Given the description of an element on the screen output the (x, y) to click on. 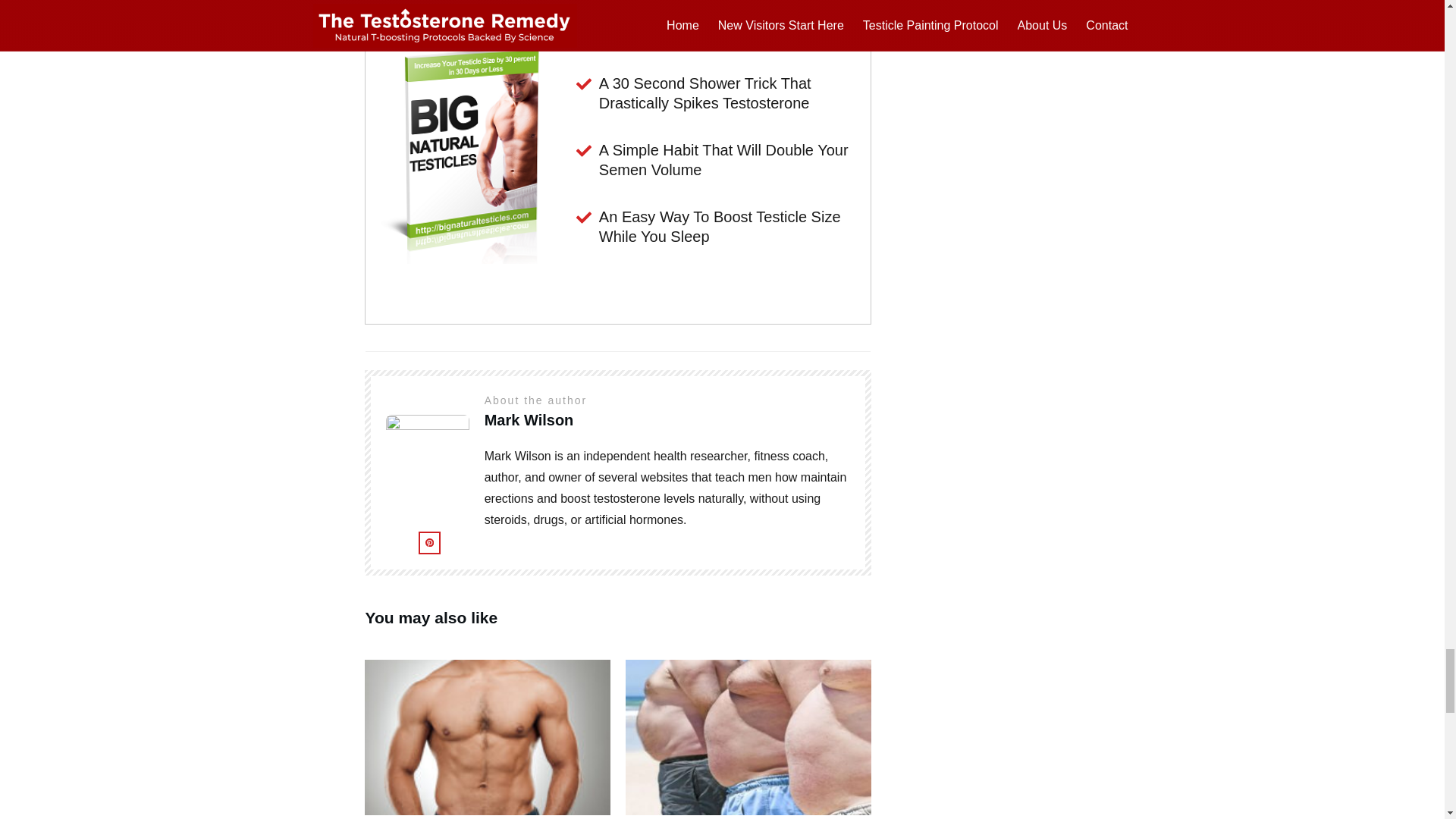
ebook-small (468, 145)
21 Alpha Male Traits (487, 731)
Smallest-pic-me (426, 464)
Obesity and Testosterone (747, 731)
